Given the description of an element on the screen output the (x, y) to click on. 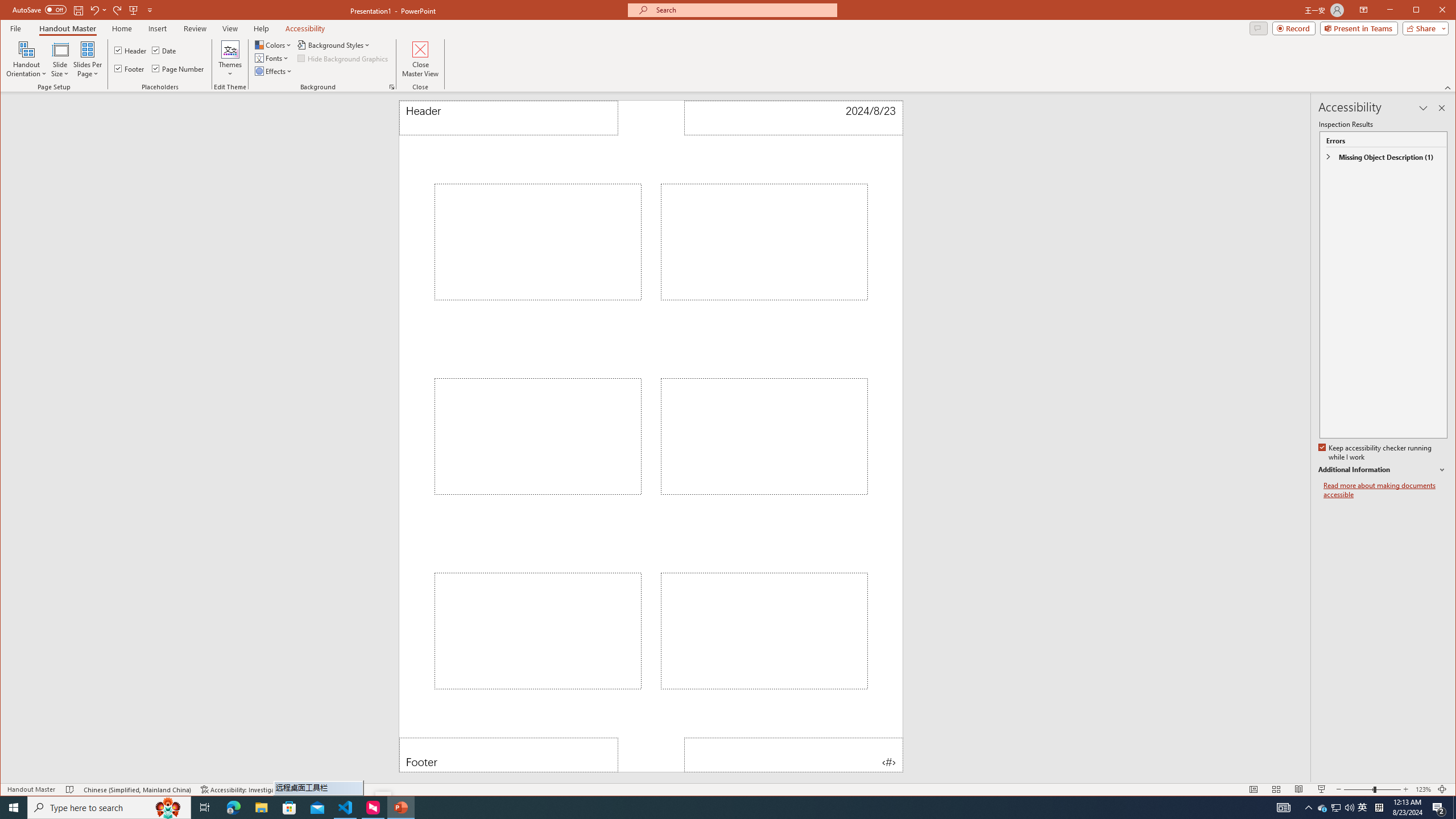
File Explorer (261, 807)
Running applications (700, 807)
Hide Background Graphics (343, 57)
Date (793, 117)
Microsoft Edge (233, 807)
Keep accessibility checker running while I work (1375, 452)
Effects (274, 70)
Page Number (793, 754)
Maximize (1432, 11)
Format Background... (391, 86)
